Given the description of an element on the screen output the (x, y) to click on. 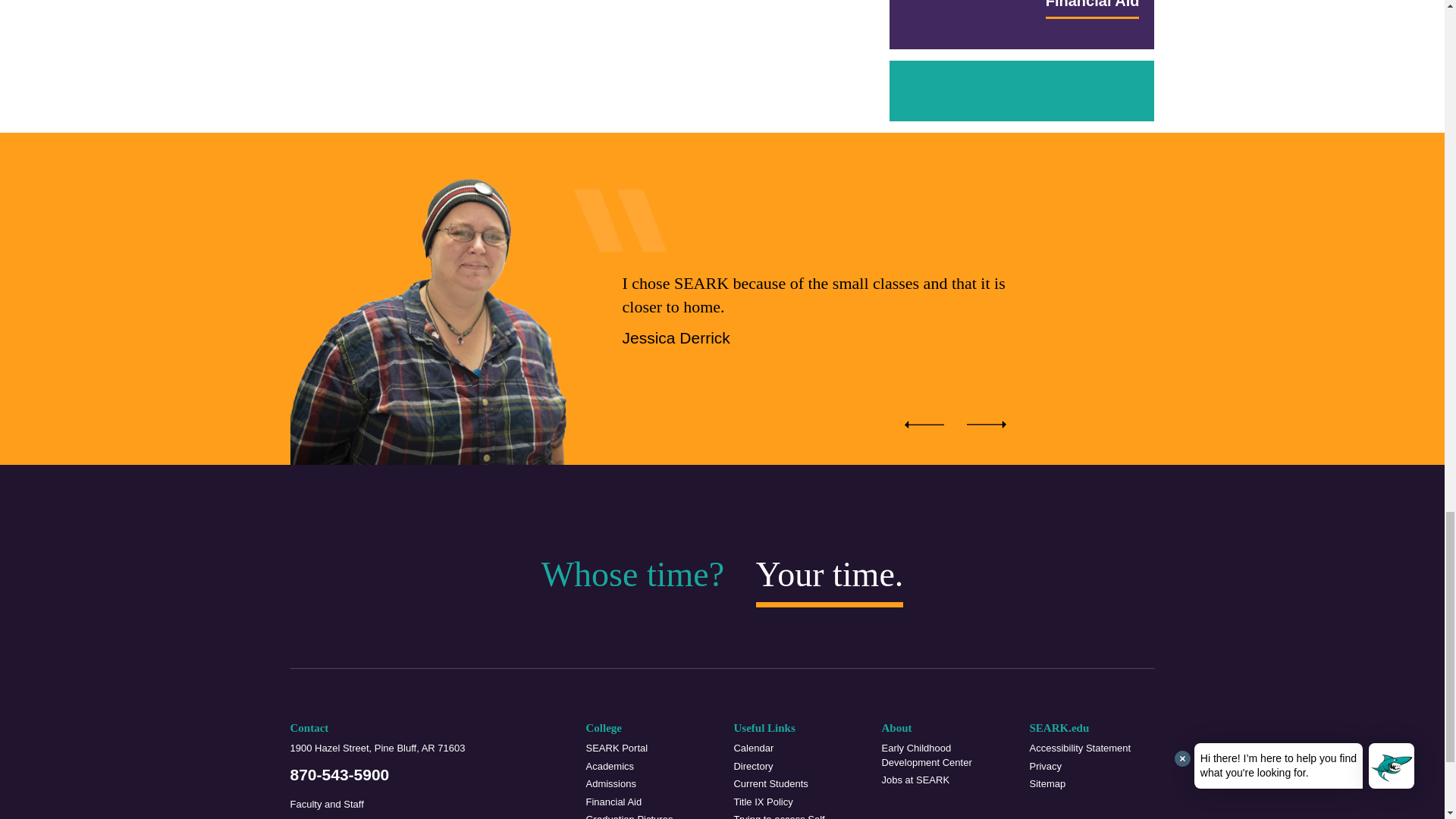
Education Amendments of 1972 (796, 802)
Link to graduation pictures (647, 816)
Student Planning (796, 816)
